Given the description of an element on the screen output the (x, y) to click on. 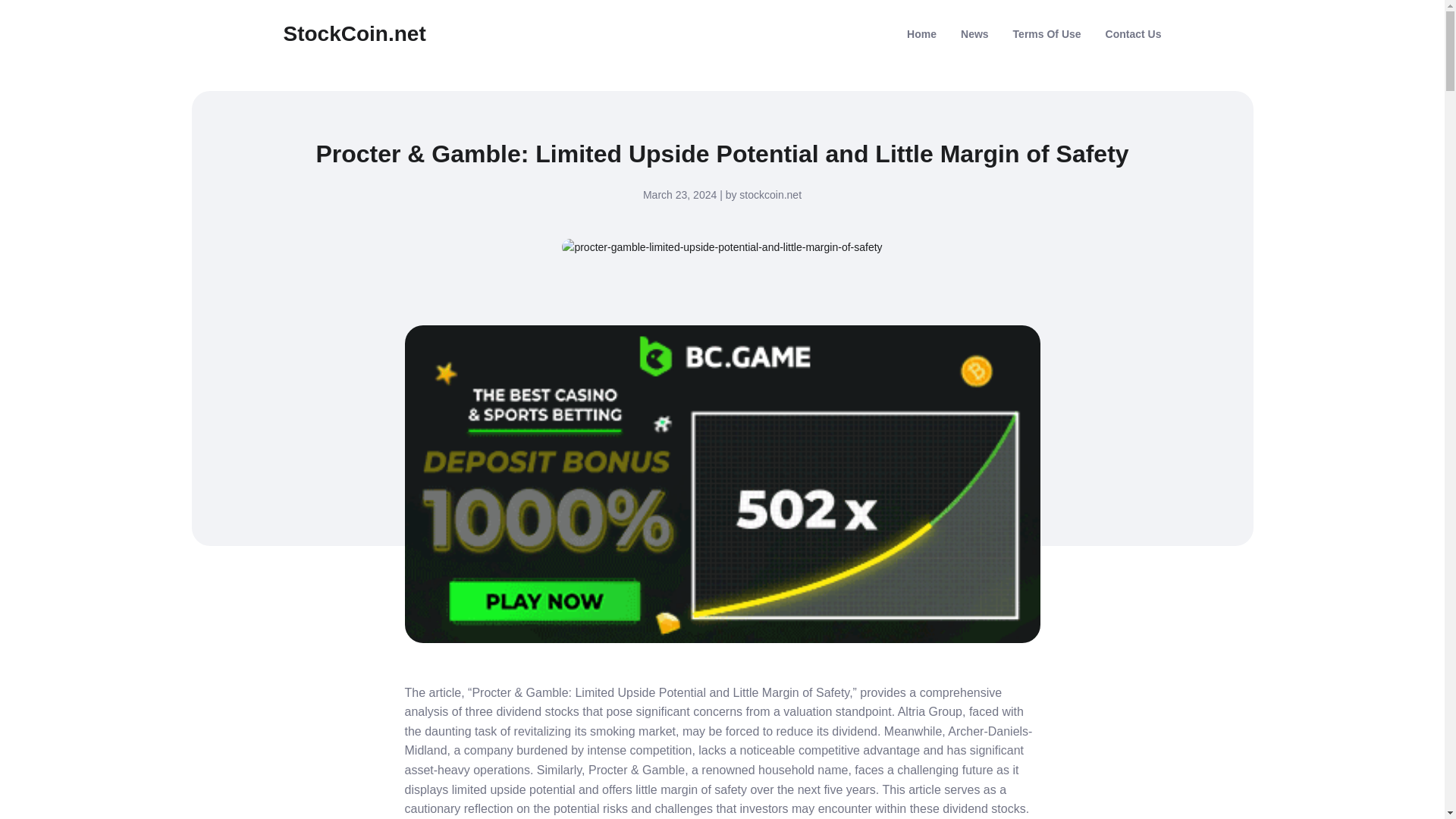
Contact Us (1133, 33)
StockCoin.net (354, 33)
Terms Of Use (1047, 33)
Home (921, 33)
News (974, 33)
